Given the description of an element on the screen output the (x, y) to click on. 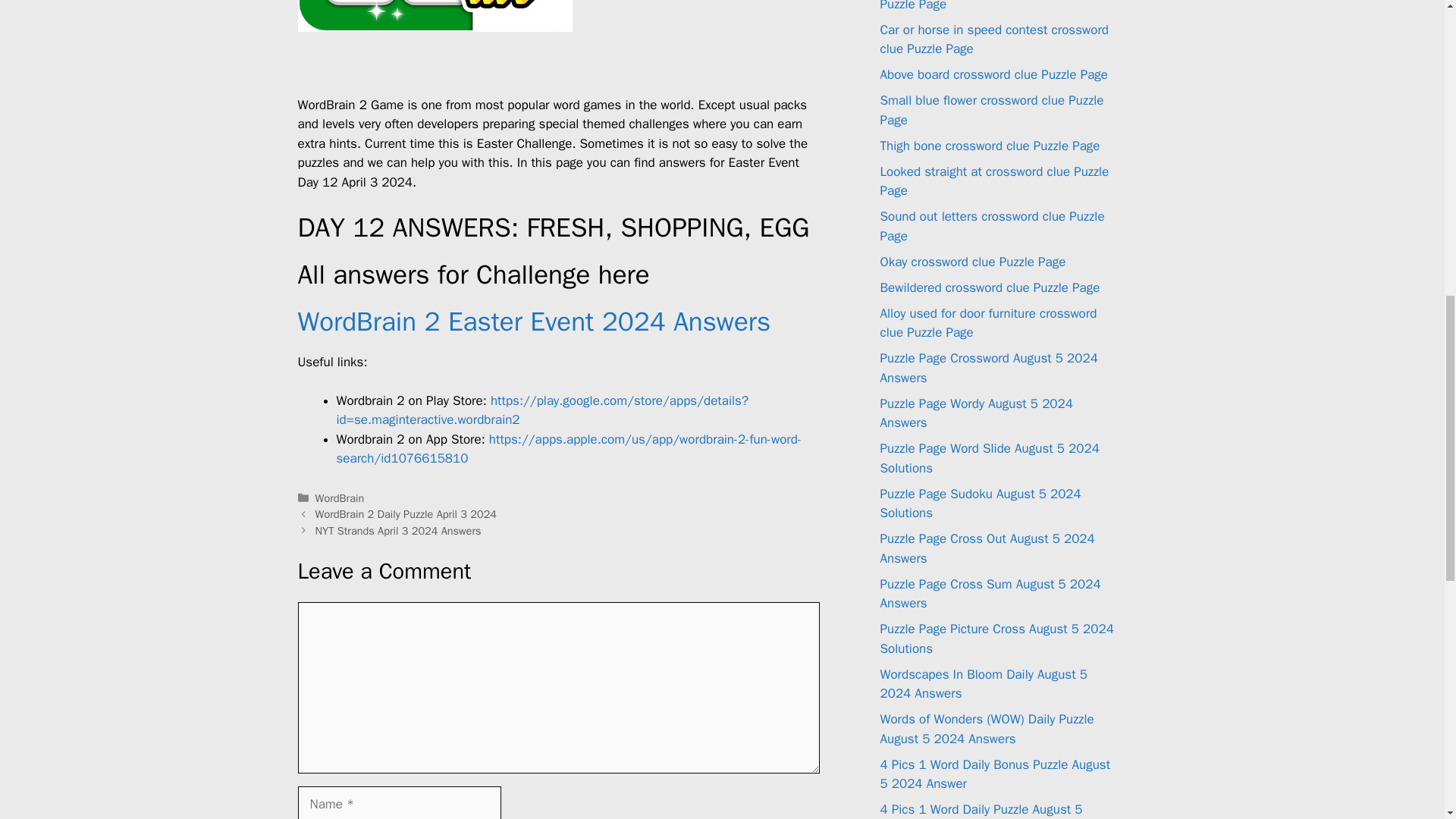
WordBrain 2 Daily Puzzle April 3 2024 (405, 513)
NYT Strands April 3 2024 Answers (398, 530)
WordBrain (340, 498)
WordBrain 2 Easter Event 2024 Answers (533, 321)
